Given the description of an element on the screen output the (x, y) to click on. 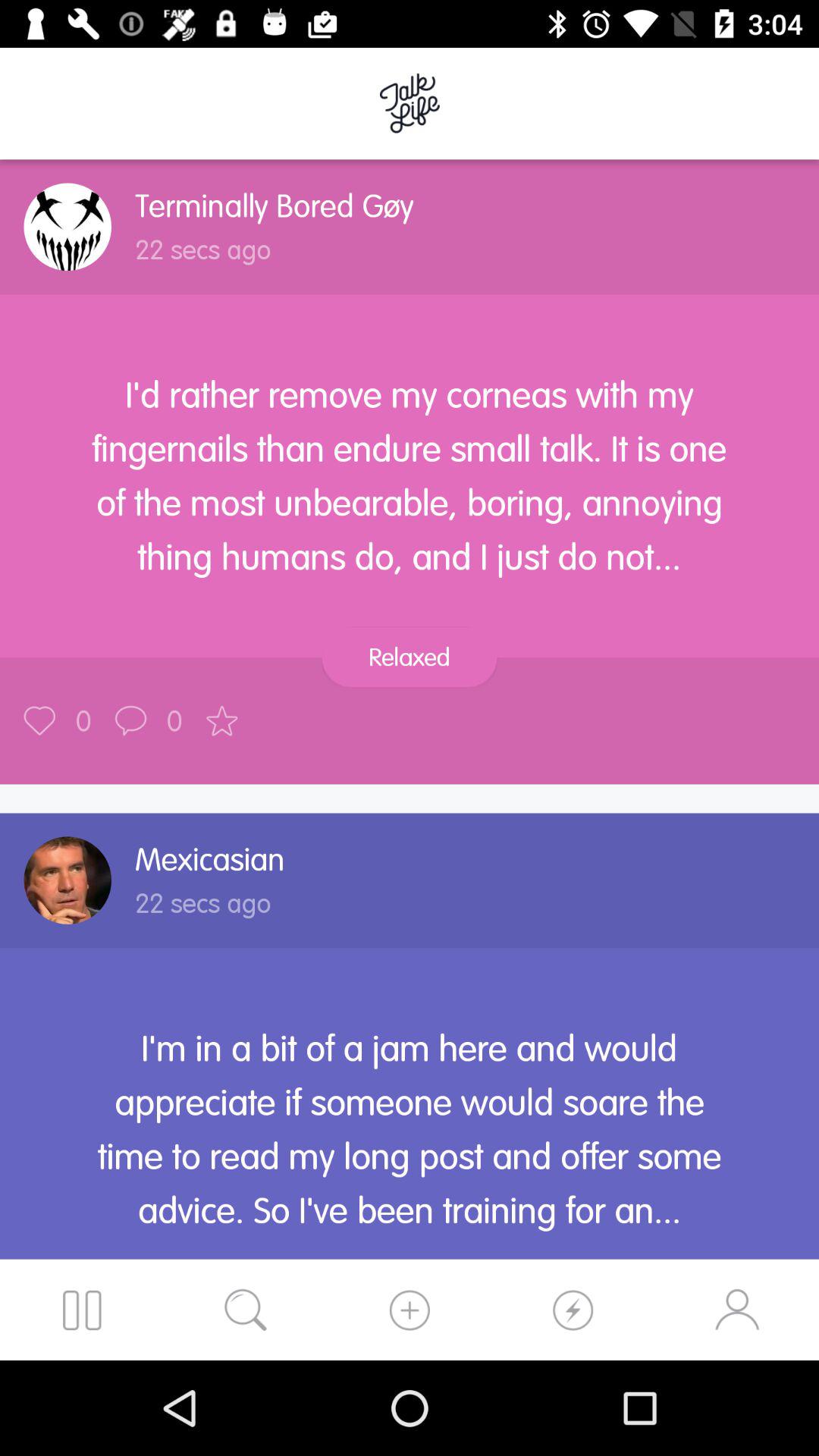
like the post (39, 720)
